Given the description of an element on the screen output the (x, y) to click on. 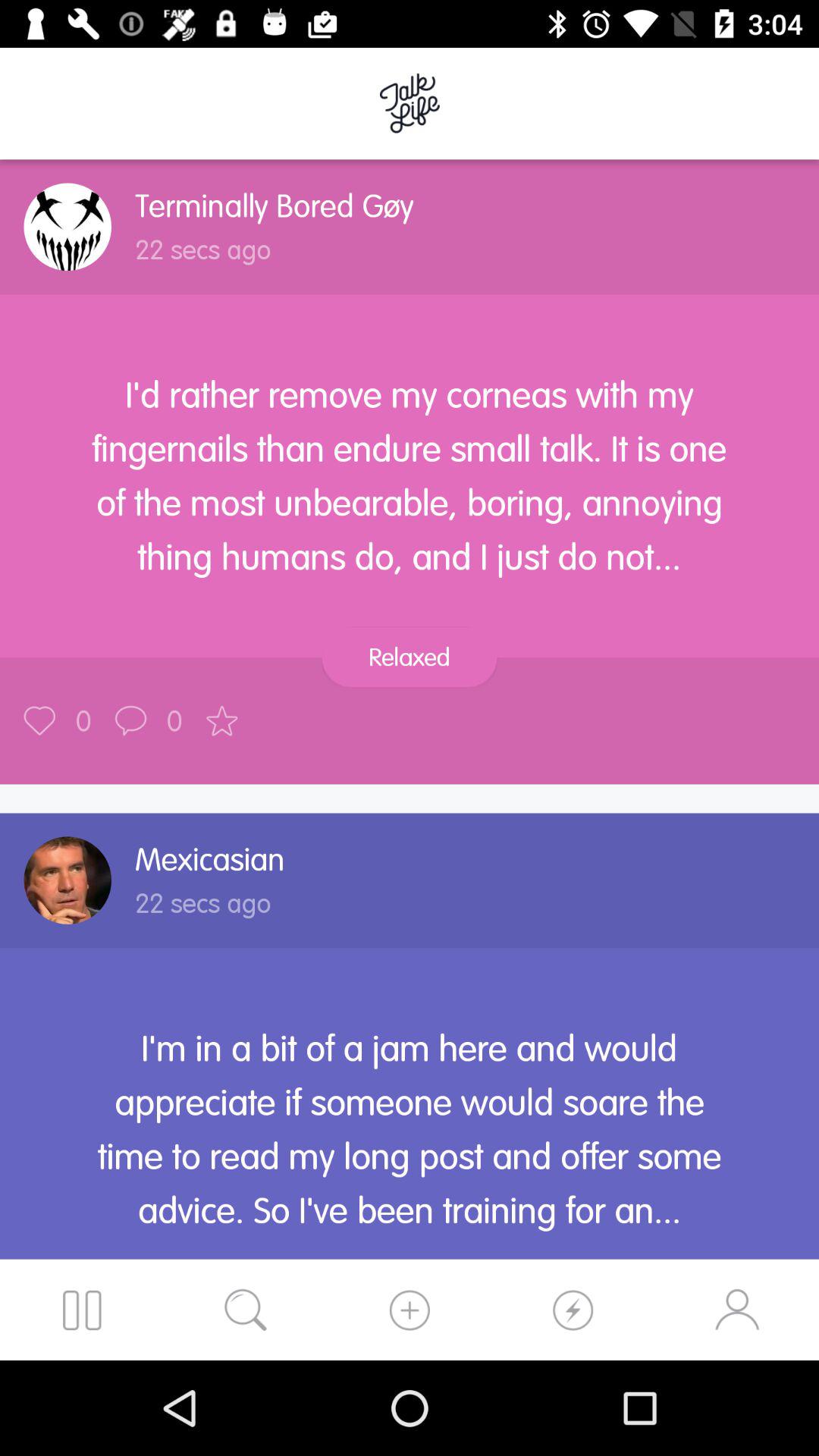
like the post (39, 720)
